Given the description of an element on the screen output the (x, y) to click on. 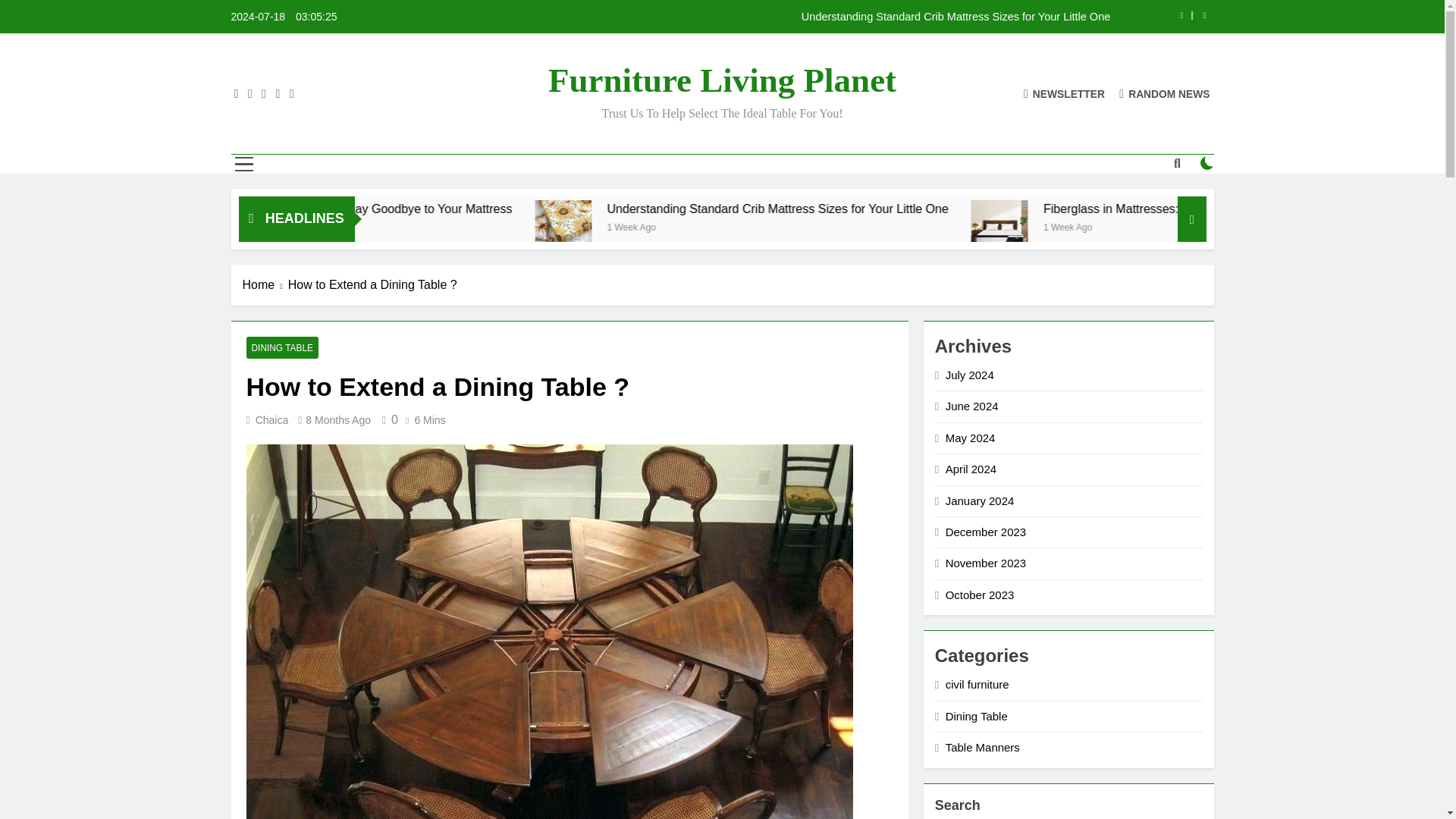
1 Week Ago (813, 226)
Furniture Living Planet (722, 80)
7 Days Ago (419, 226)
Replace Wisely: When to Say Goodbye to Your Mattress (549, 208)
Replace Wisely: When to Say Goodbye to Your Mattress (507, 208)
NEWSLETTER (1064, 92)
RANDOM NEWS (1164, 92)
on (1206, 162)
Fiberglass in Mattresses: Debunking the Safety Myths (1137, 228)
